Given the description of an element on the screen output the (x, y) to click on. 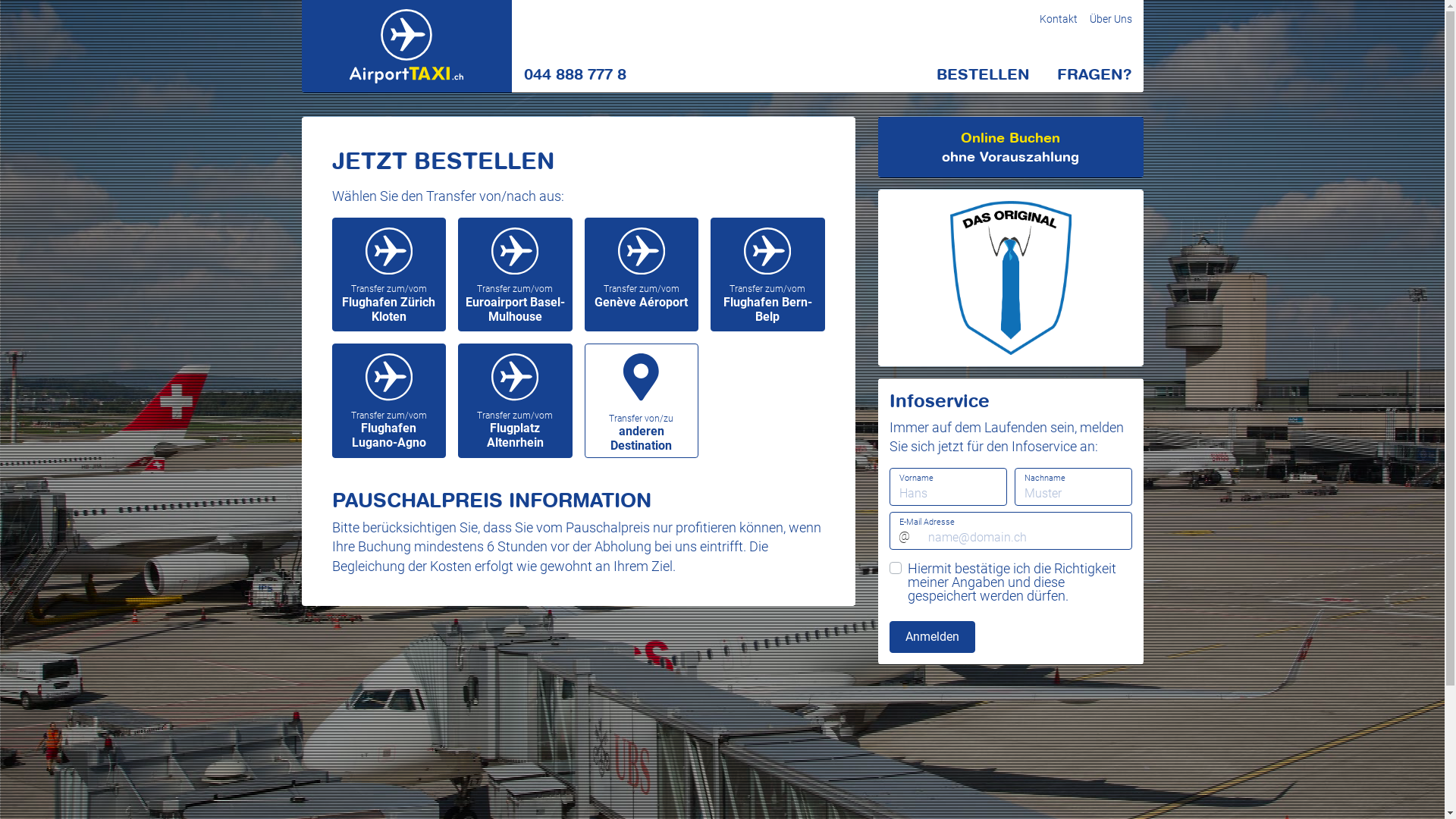
BESTELLEN Element type: text (982, 73)
Kontakt Element type: text (1057, 18)
FRAGEN? Element type: text (1093, 73)
Transfer zum/vom
Flugplatz Altenrhein Element type: text (515, 400)
Transfer von/zu
anderen Destination Element type: text (640, 400)
Transfer zum/vom
Euroairport Basel-Mulhouse Element type: text (515, 274)
Transfer zum/vom
Flughafen Bern-Belp Element type: text (767, 274)
044 888 777 8 Element type: text (574, 73)
Anmelden Element type: text (931, 636)
Transfer zum/vom
Flughafen Lugano-Agno Element type: text (389, 400)
